Given the description of an element on the screen output the (x, y) to click on. 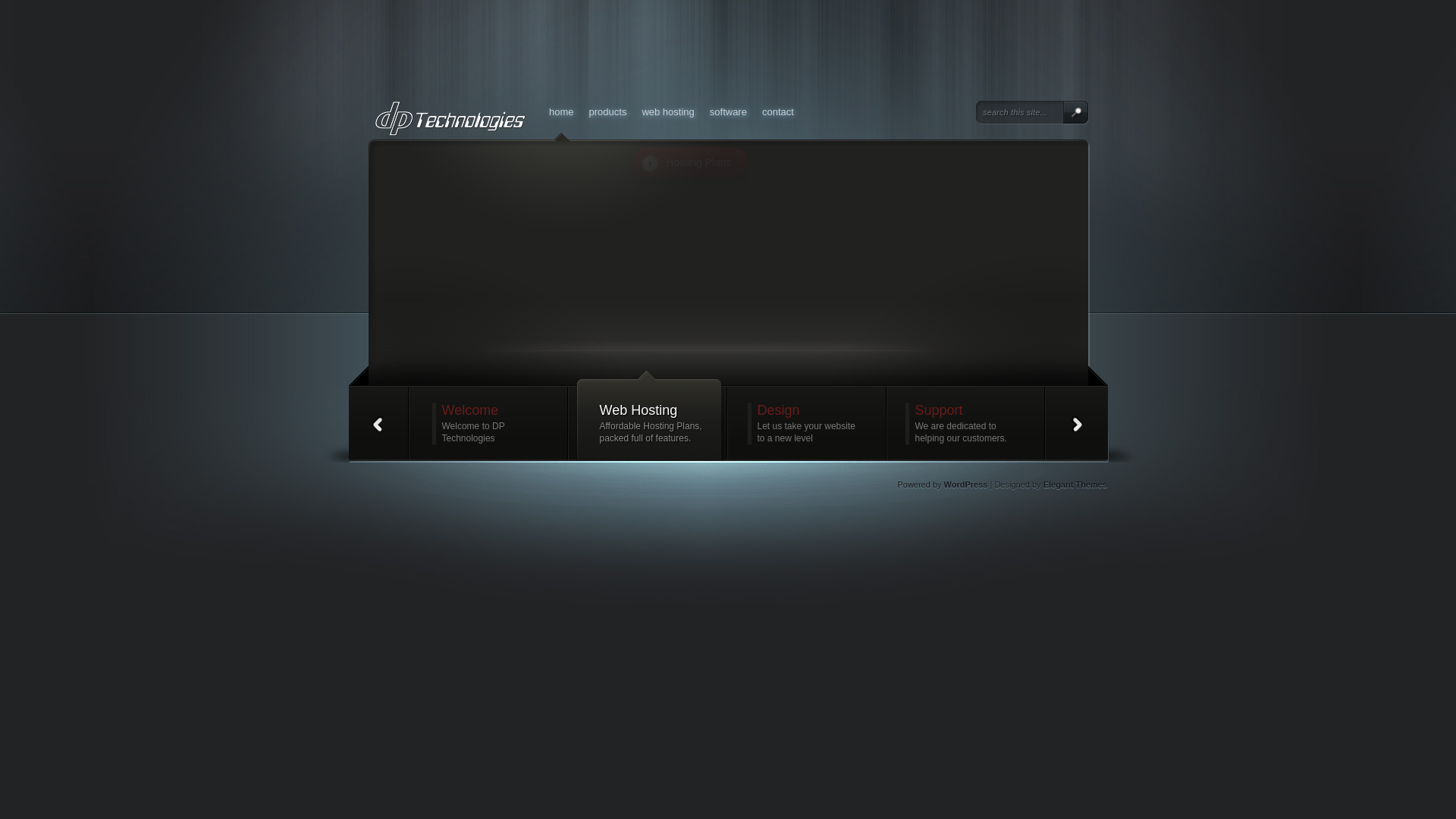
Prev Element type: text (377, 423)
contact Element type: text (777, 111)
DP Technologies Element type: text (510, 186)
products Element type: text (607, 111)
web hosting Element type: text (667, 111)
Welcome
Welcome to DP Technologies Element type: text (491, 422)
WordPress Element type: text (966, 484)
software Element type: text (728, 111)
Elegant Themes Element type: text (1075, 484)
Next Element type: text (1077, 423)
Support
We are dedicated to helping our customers. Element type: text (964, 422)
Design
Let us take your website to a new level Element type: text (806, 422)
Search Element type: text (1074, 112)
home Element type: text (561, 111)
